Given the description of an element on the screen output the (x, y) to click on. 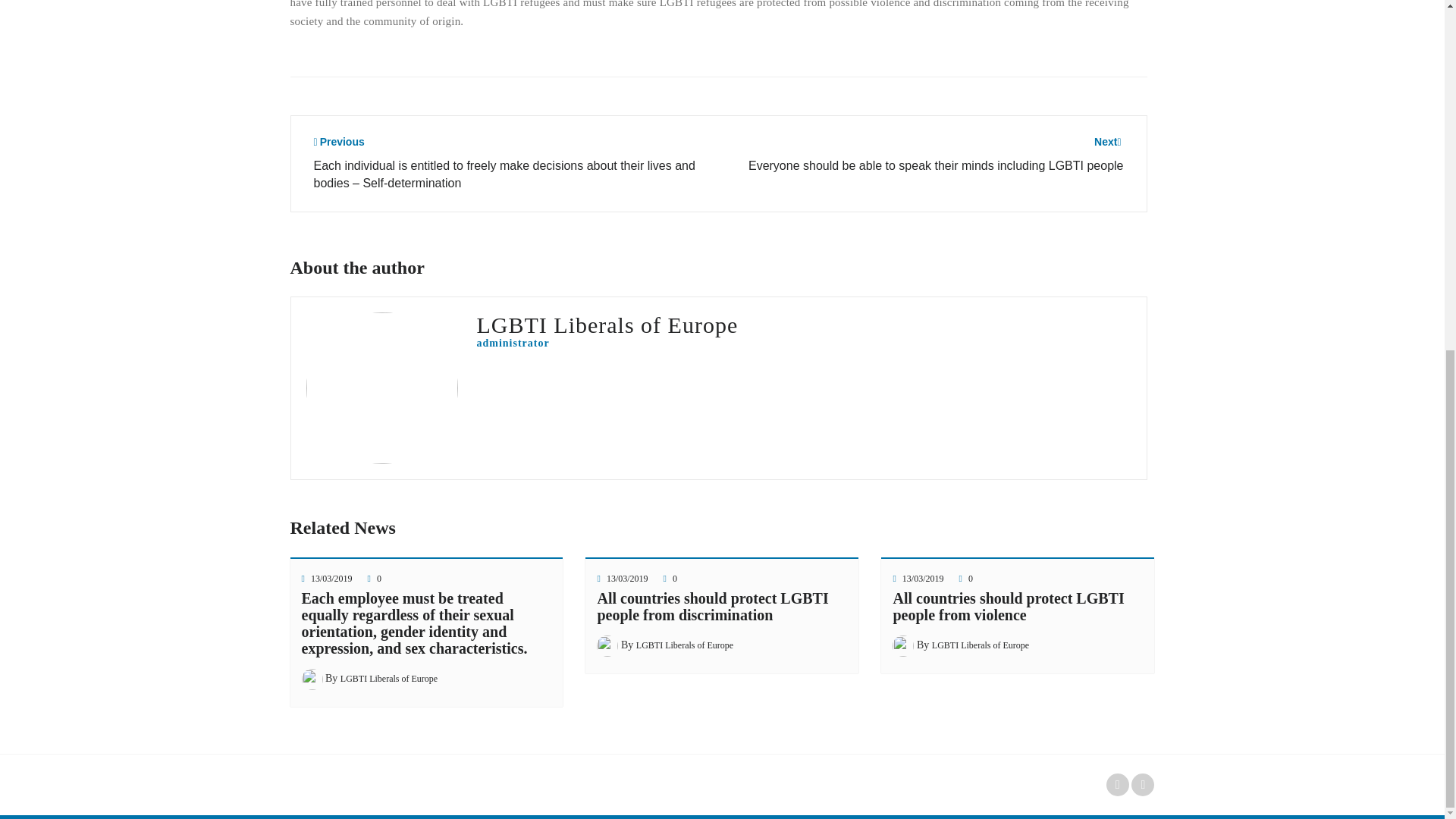
LGBTI Liberals of Europe (389, 678)
All countries should protect LGBTI people from violence (1008, 606)
LGBTI Liberals of Europe (980, 645)
LGBTI Liberals of Europe (684, 645)
